Given the description of an element on the screen output the (x, y) to click on. 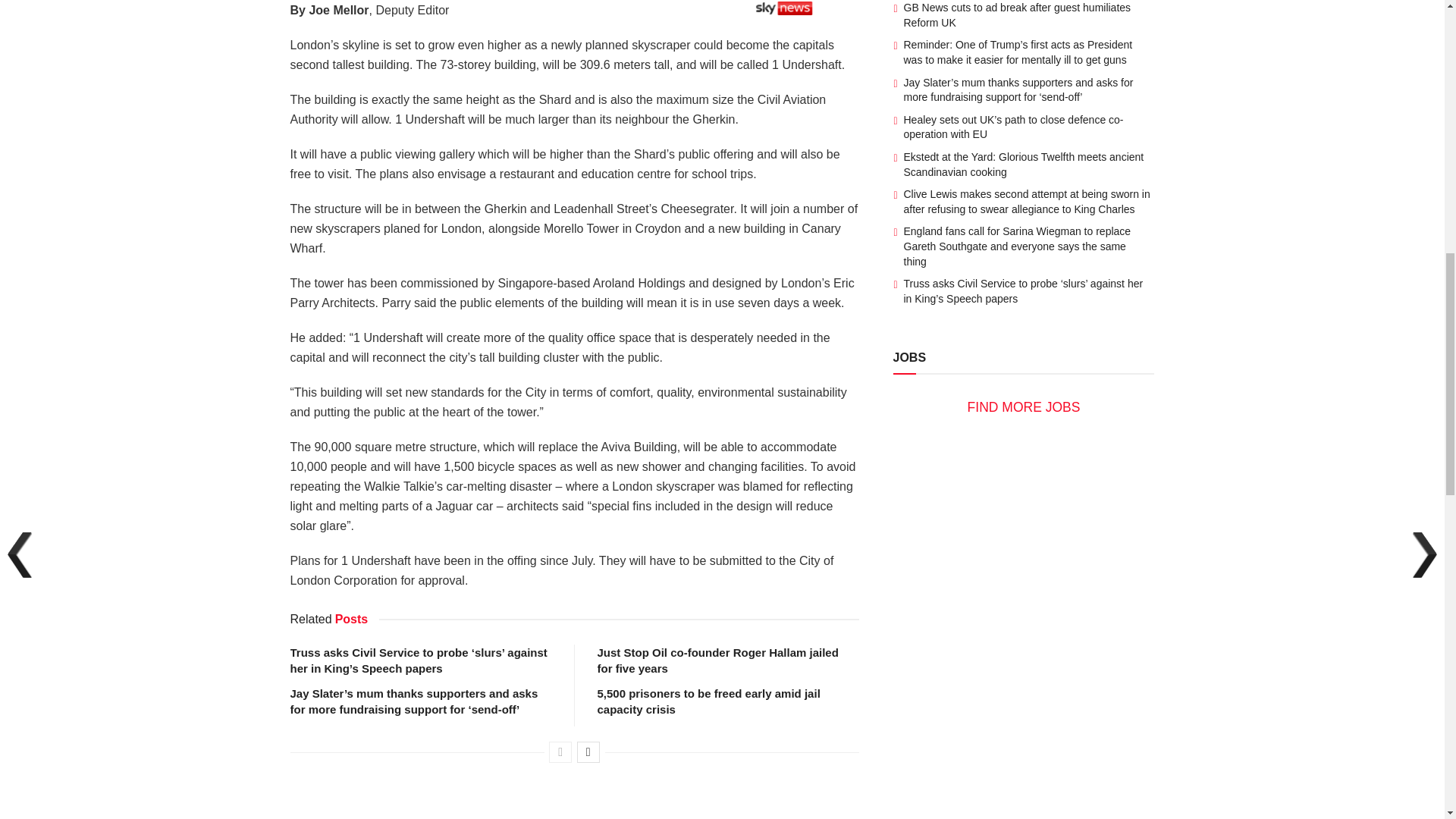
Next (587, 752)
Previous (560, 752)
